Given the description of an element on the screen output the (x, y) to click on. 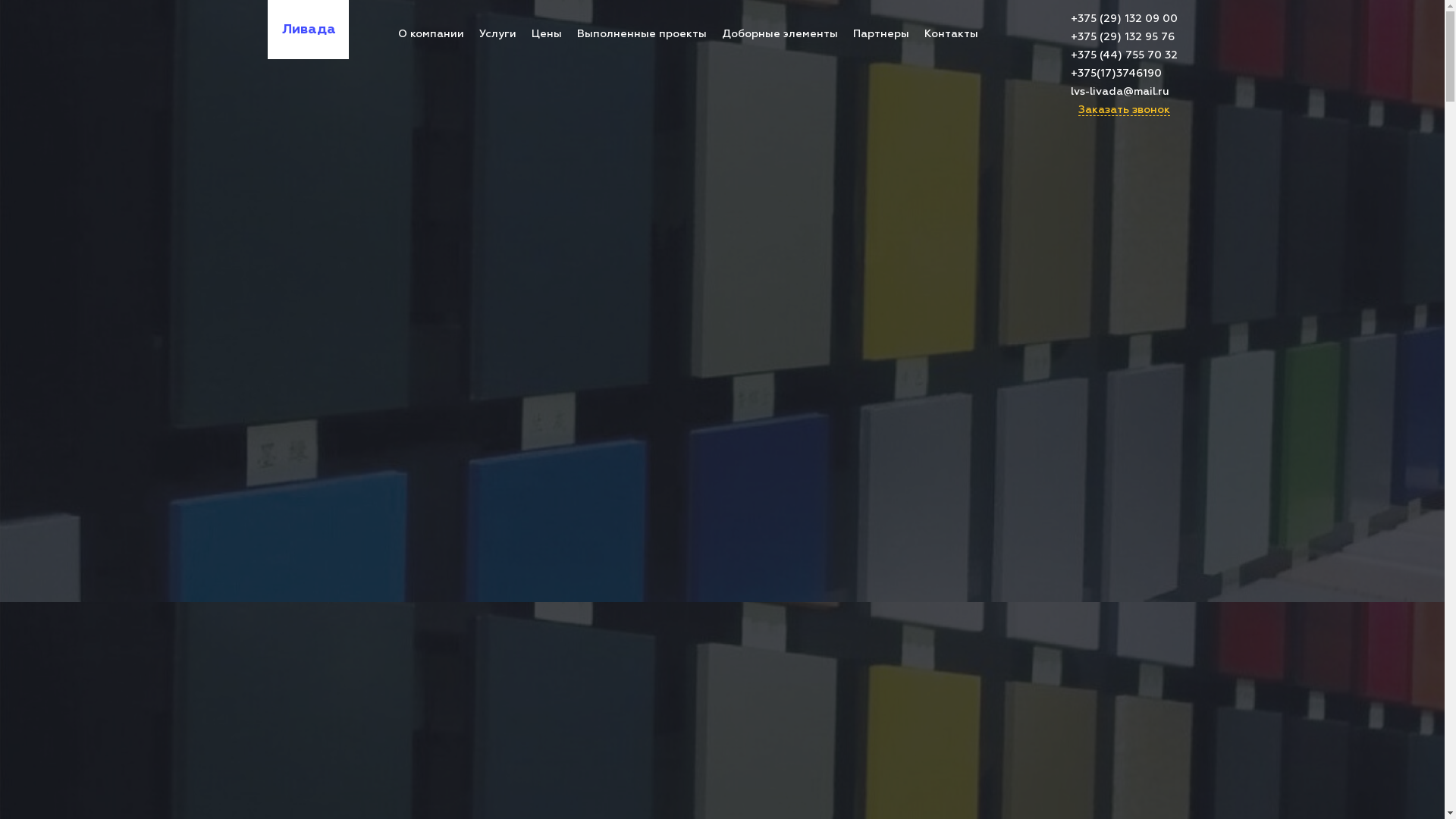
lvs-livada@mail.ru Element type: text (1123, 91)
+375 (29) 132 95 76 Element type: text (1123, 37)
+375 (44) 755 70 32 Element type: text (1123, 55)
+375 (29) 132 09 00 Element type: text (1123, 18)
+375(17)3746190 Element type: text (1123, 73)
